Given the description of an element on the screen output the (x, y) to click on. 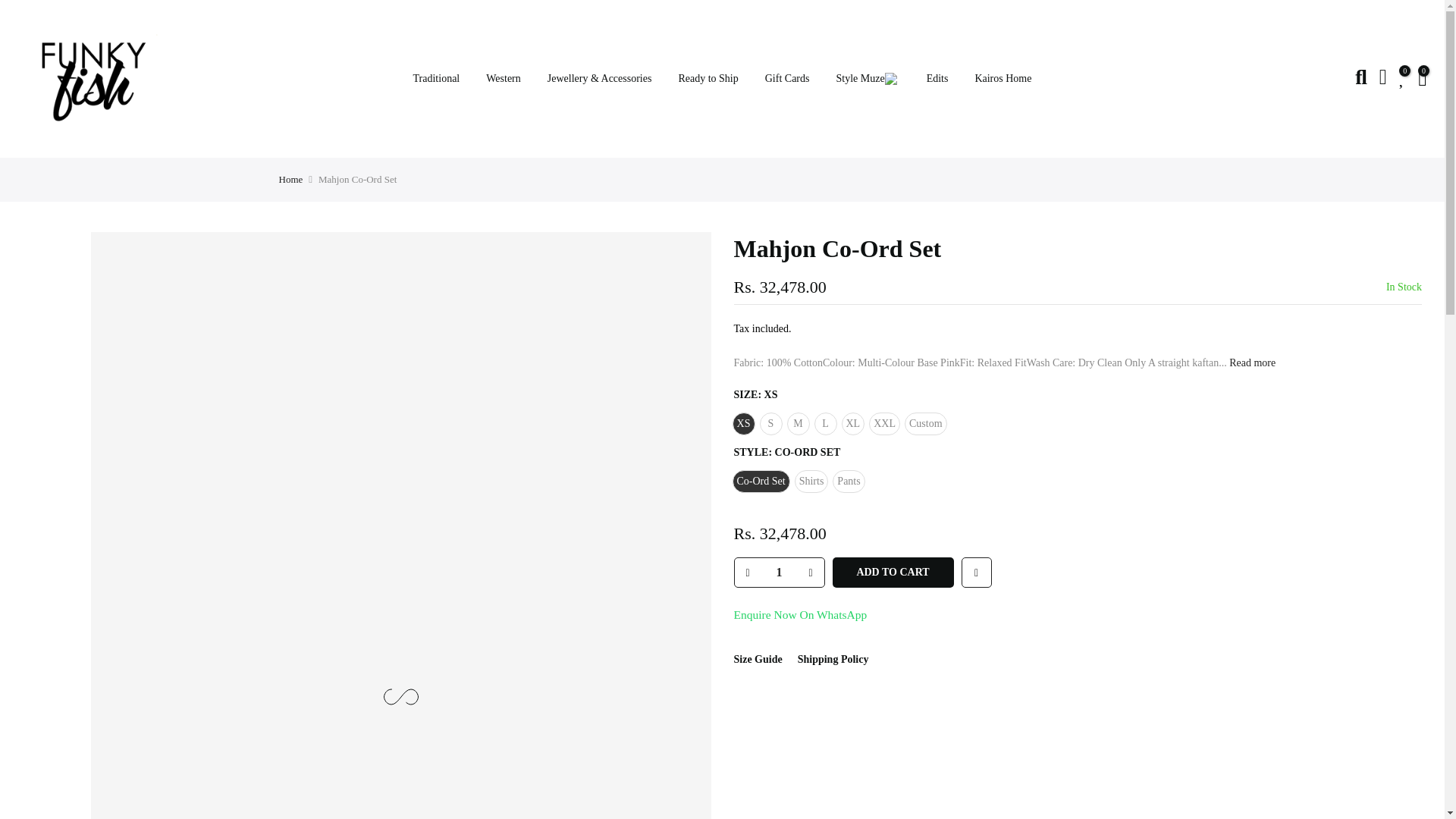
Home (290, 179)
Western (503, 78)
Gift Cards (786, 78)
Ready to Ship (708, 78)
Shipping Policy (833, 659)
Edits (936, 78)
Size Guide (758, 659)
ADD TO CART (892, 572)
1 (778, 572)
Kairos Home (1002, 78)
